Given the description of an element on the screen output the (x, y) to click on. 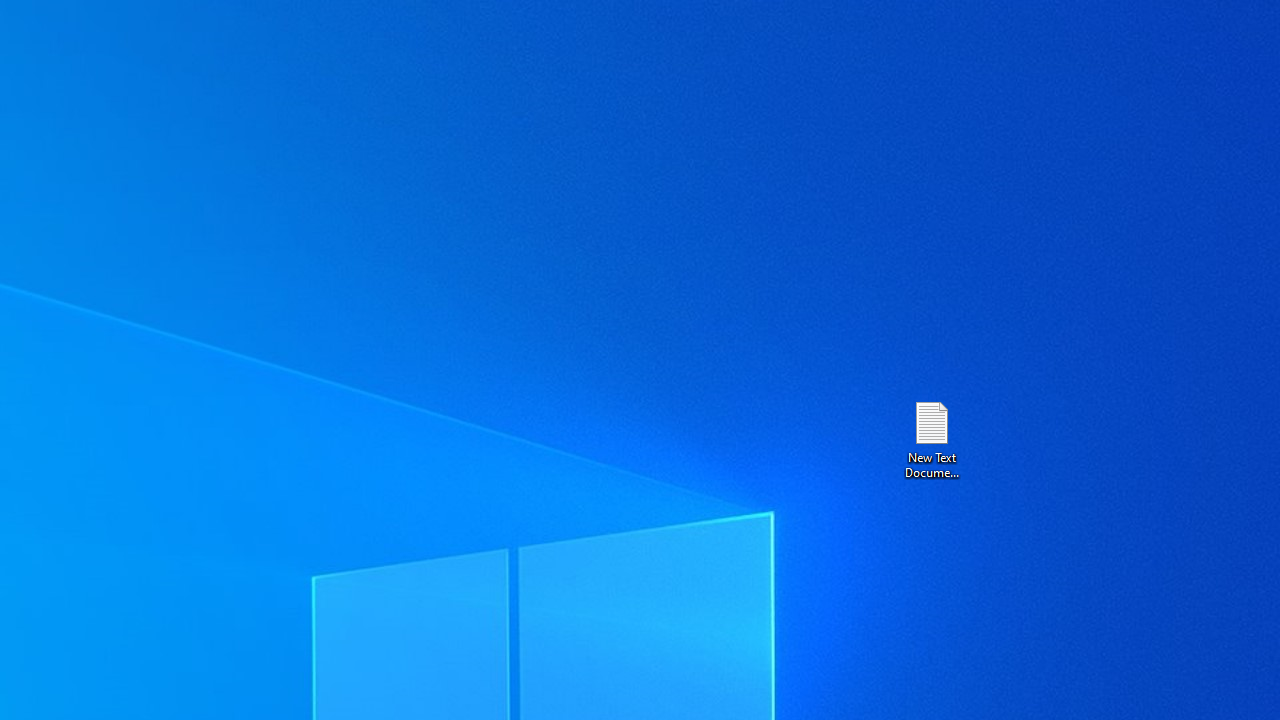
New Text Document (2) (931, 438)
